Given the description of an element on the screen output the (x, y) to click on. 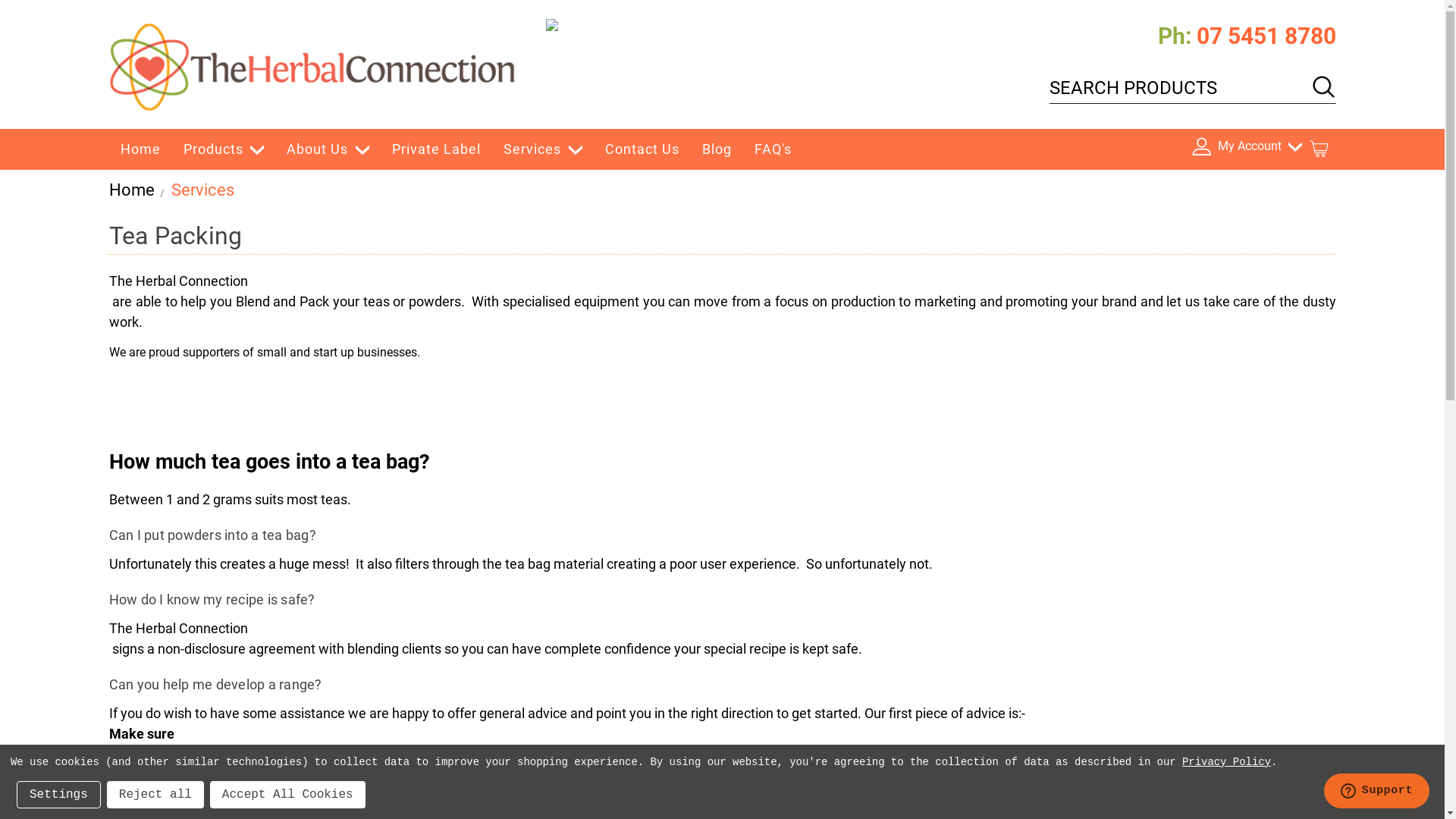
My Account Element type: text (1246, 148)
Home Element type: text (140, 148)
Services Element type: text (202, 189)
Products Element type: text (223, 148)
Home Element type: text (131, 189)
Search Element type: text (1322, 86)
Contact Us Element type: text (641, 148)
FAQ'S Element type: text (773, 148)
Ph: 07 5451 8780 Element type: text (1246, 35)
Services Element type: text (542, 148)
Accept All Cookies Element type: text (287, 794)
Blog Element type: text (716, 148)
Opens a widget where you can find more information Element type: hover (1376, 792)
Reject all Element type: text (154, 794)
The Herbal Connection Element type: hover (312, 66)
Privacy Policy Element type: text (1226, 762)
About Us Element type: text (327, 148)
Private Label Element type: text (436, 148)
Settings Element type: text (58, 794)
